Given the description of an element on the screen output the (x, y) to click on. 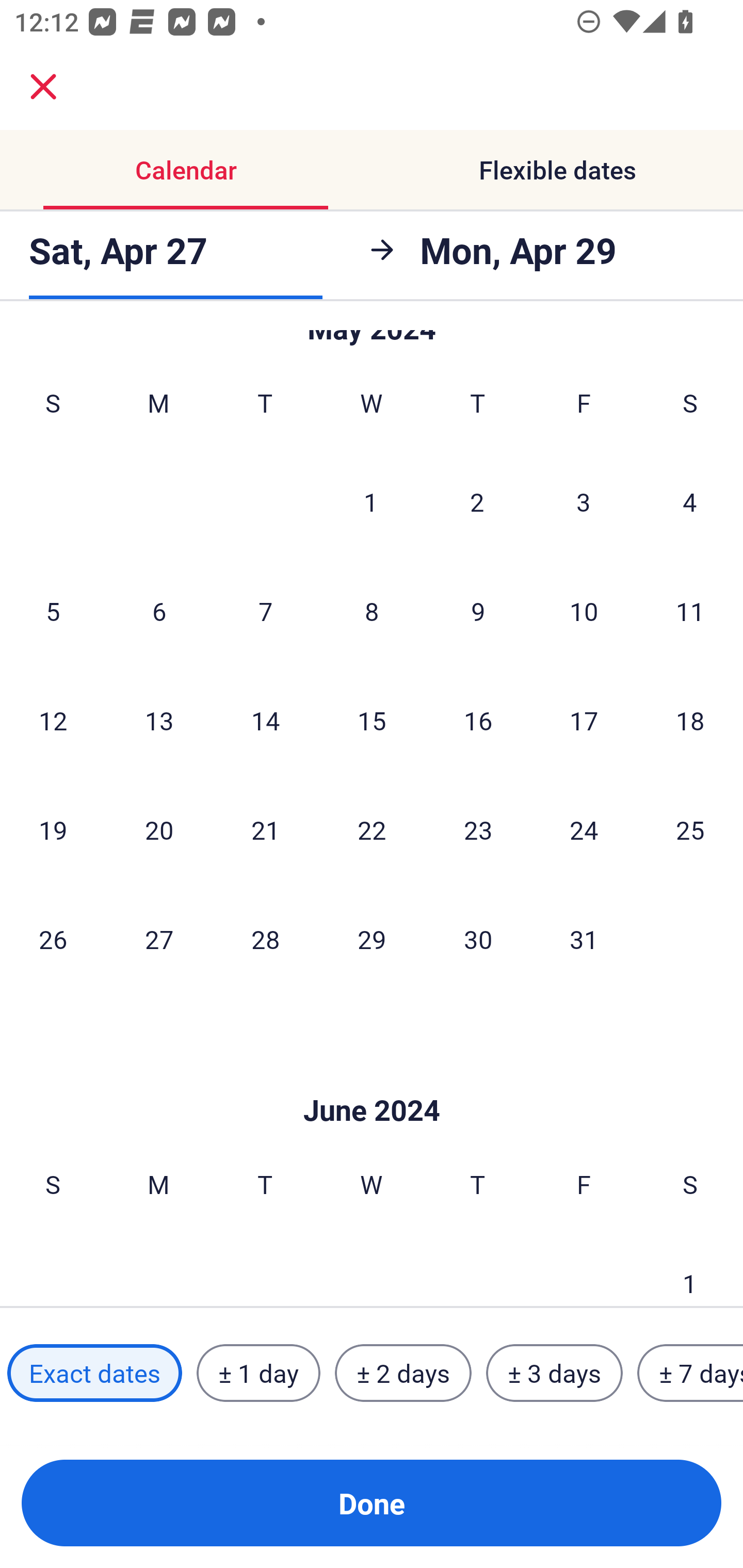
close. (43, 86)
Flexible dates (557, 170)
1 Wednesday, May 1, 2024 (371, 501)
2 Thursday, May 2, 2024 (477, 501)
3 Friday, May 3, 2024 (583, 501)
4 Saturday, May 4, 2024 (689, 501)
5 Sunday, May 5, 2024 (53, 610)
6 Monday, May 6, 2024 (159, 610)
7 Tuesday, May 7, 2024 (265, 610)
8 Wednesday, May 8, 2024 (371, 610)
9 Thursday, May 9, 2024 (477, 610)
10 Friday, May 10, 2024 (584, 610)
11 Saturday, May 11, 2024 (690, 610)
12 Sunday, May 12, 2024 (53, 720)
13 Monday, May 13, 2024 (159, 720)
14 Tuesday, May 14, 2024 (265, 720)
15 Wednesday, May 15, 2024 (371, 720)
16 Thursday, May 16, 2024 (477, 720)
17 Friday, May 17, 2024 (584, 720)
18 Saturday, May 18, 2024 (690, 720)
19 Sunday, May 19, 2024 (53, 829)
20 Monday, May 20, 2024 (159, 829)
21 Tuesday, May 21, 2024 (265, 829)
22 Wednesday, May 22, 2024 (371, 829)
23 Thursday, May 23, 2024 (477, 829)
24 Friday, May 24, 2024 (584, 829)
25 Saturday, May 25, 2024 (690, 829)
26 Sunday, May 26, 2024 (53, 938)
27 Monday, May 27, 2024 (159, 938)
28 Tuesday, May 28, 2024 (265, 938)
29 Wednesday, May 29, 2024 (371, 938)
30 Thursday, May 30, 2024 (477, 938)
31 Friday, May 31, 2024 (584, 938)
Skip to Done (371, 1079)
1 Saturday, June 1, 2024 (689, 1268)
Exact dates (94, 1372)
± 1 day (258, 1372)
± 2 days (403, 1372)
± 3 days (553, 1372)
± 7 days (690, 1372)
Done (371, 1502)
